Given the description of an element on the screen output the (x, y) to click on. 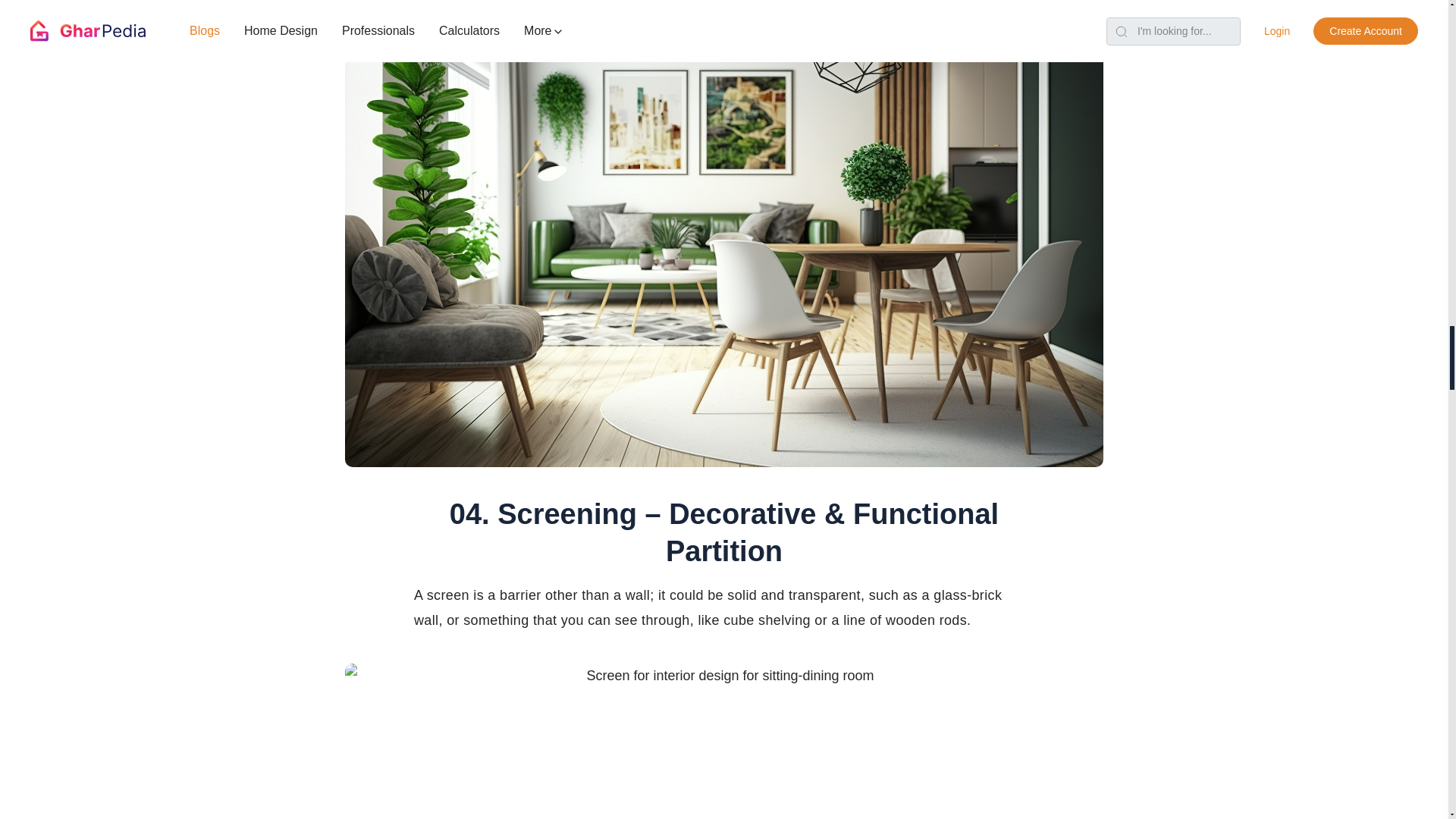
Screen for interior design for sitting-dining room (724, 741)
